Given the description of an element on the screen output the (x, y) to click on. 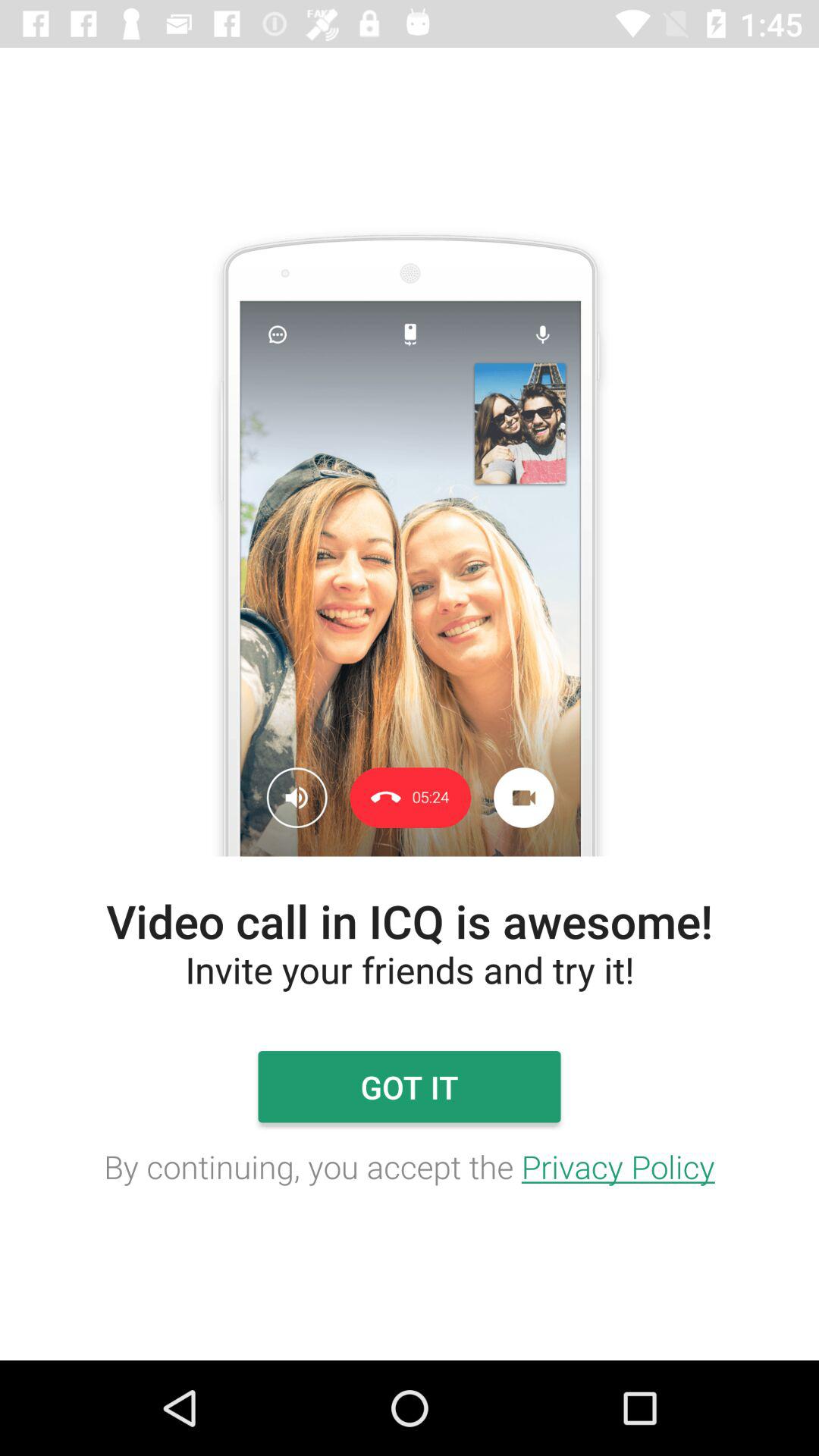
press the icon below the invite your friends item (409, 1086)
